Given the description of an element on the screen output the (x, y) to click on. 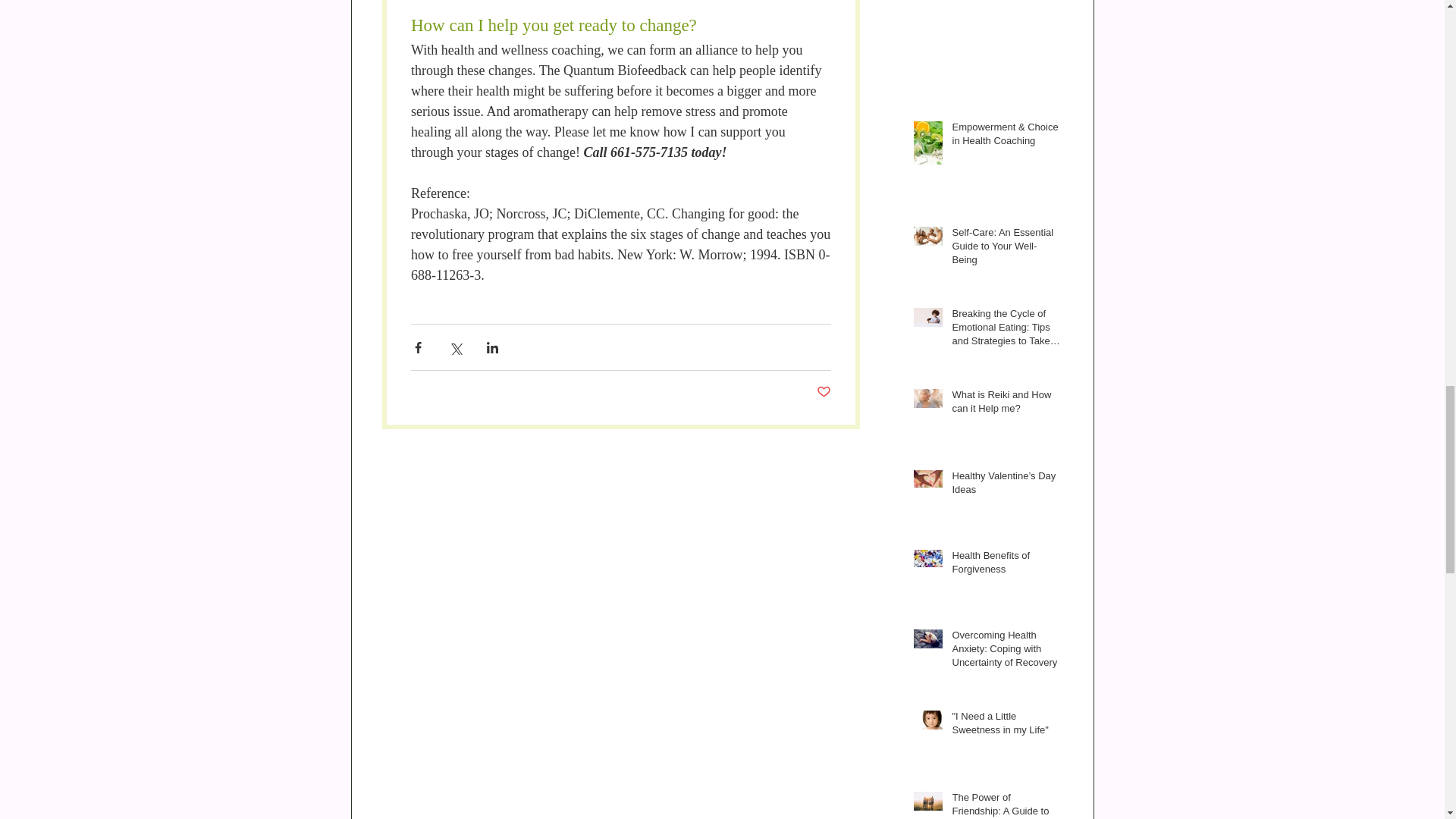
Health Benefits of Forgiveness (1006, 565)
Post not marked as liked (822, 392)
The Power of Friendship: A Guide to the Health Benefits (1006, 805)
"I Need a Little Sweetness in my Life" (1006, 726)
Self-Care: An Essential Guide to Your Well-Being (1006, 249)
What is Reiki and How can it Help me? (1006, 404)
